Given the description of an element on the screen output the (x, y) to click on. 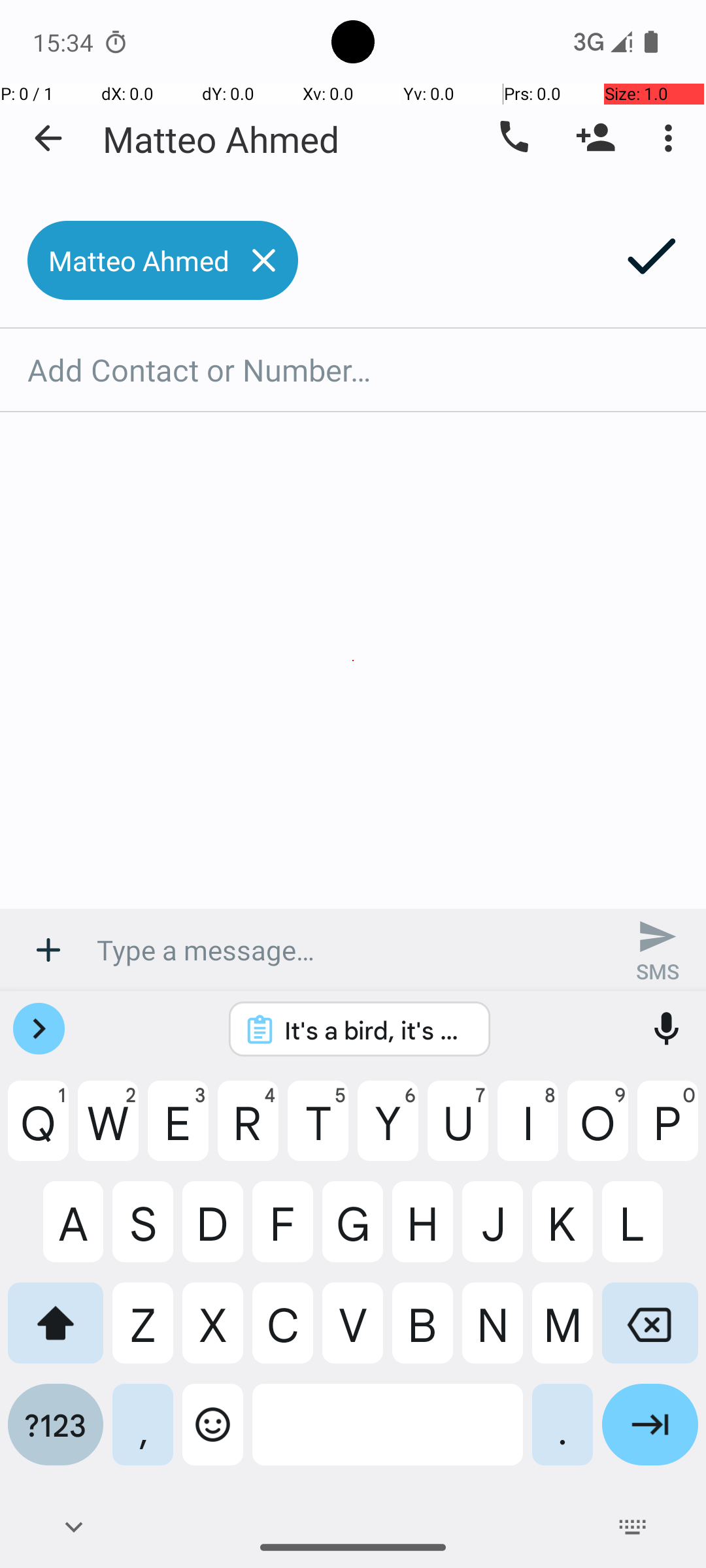
Matteo Ahmed Element type: android.widget.TextView (220, 138)
